Given the description of an element on the screen output the (x, y) to click on. 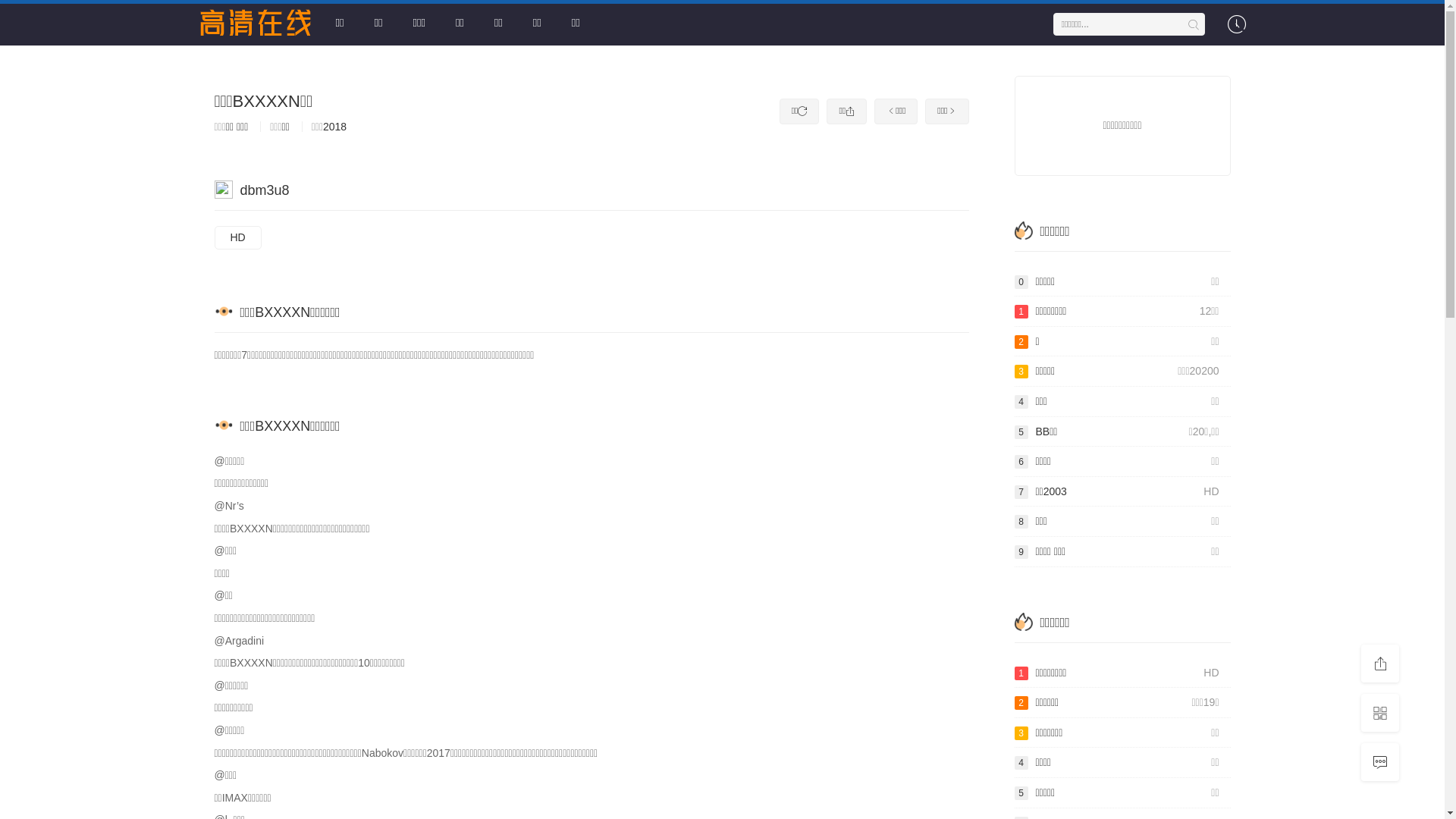
2018 Element type: text (334, 126)
HD Element type: text (236, 237)
